Given the description of an element on the screen output the (x, y) to click on. 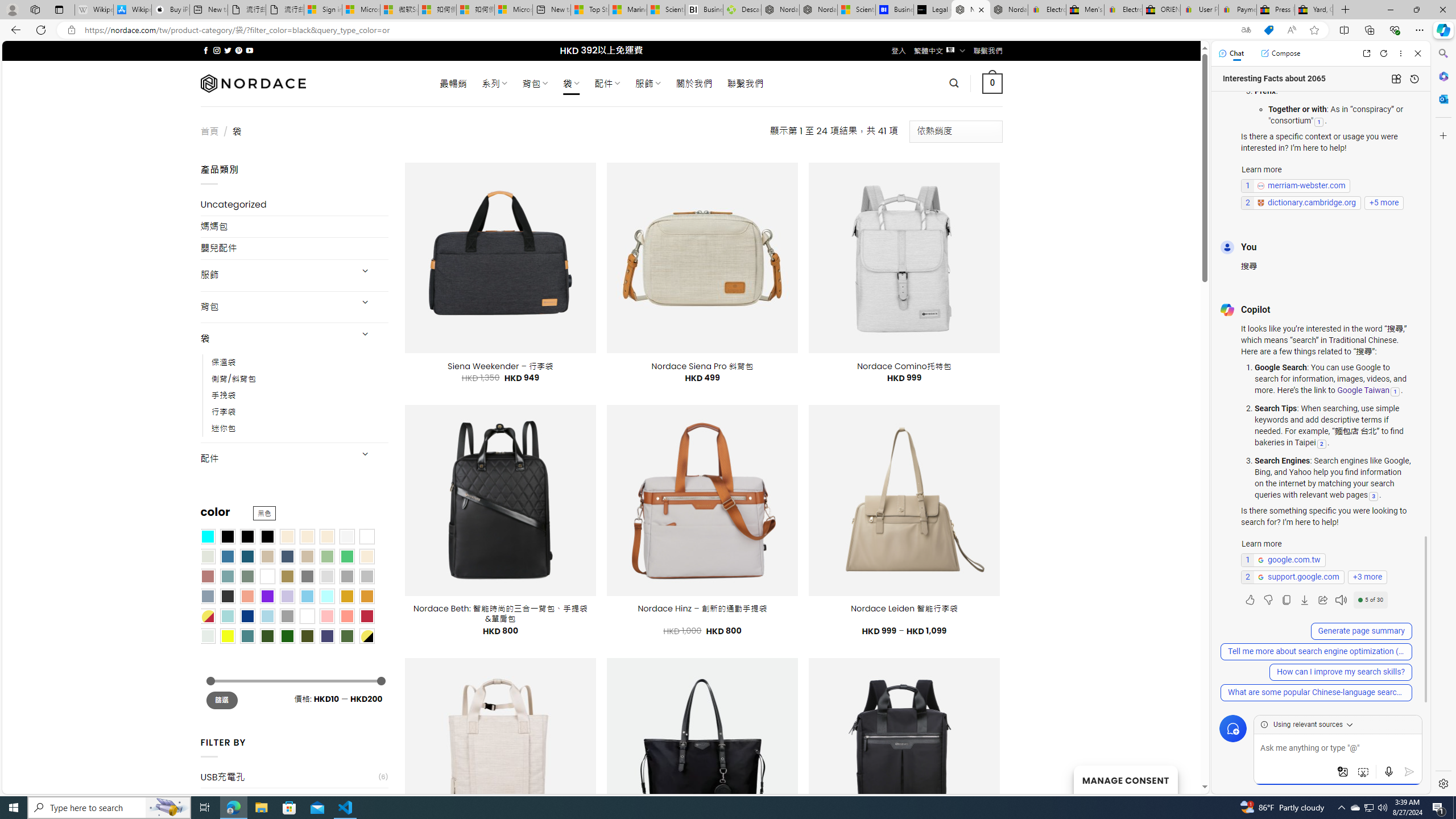
Follow on Instagram (216, 50)
User Privacy Notice | eBay (1198, 9)
Dull Nickle (207, 635)
